Given the description of an element on the screen output the (x, y) to click on. 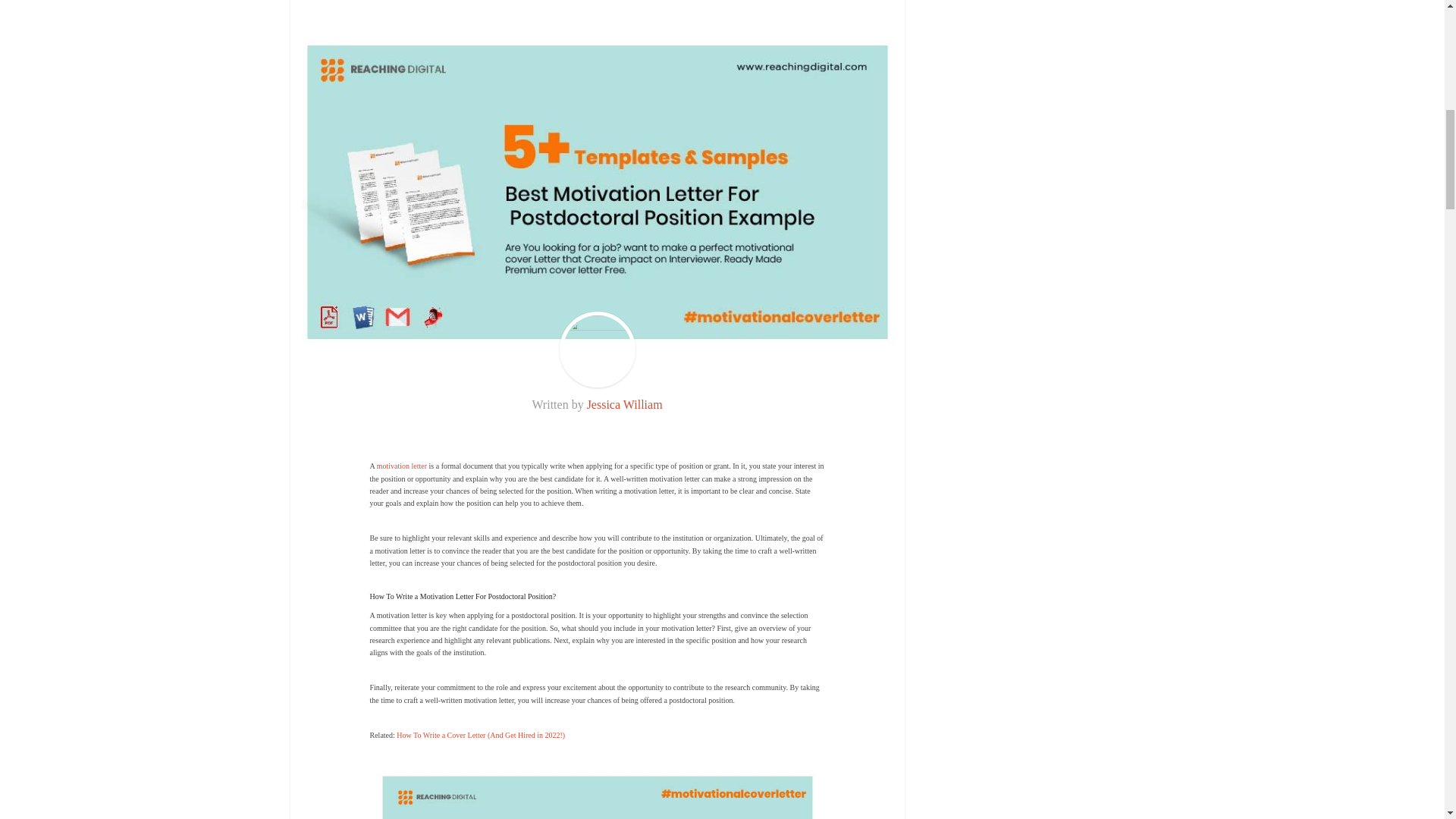
Advertisement (597, 3)
Jessica William (624, 404)
motivation letter (401, 465)
